Given the description of an element on the screen output the (x, y) to click on. 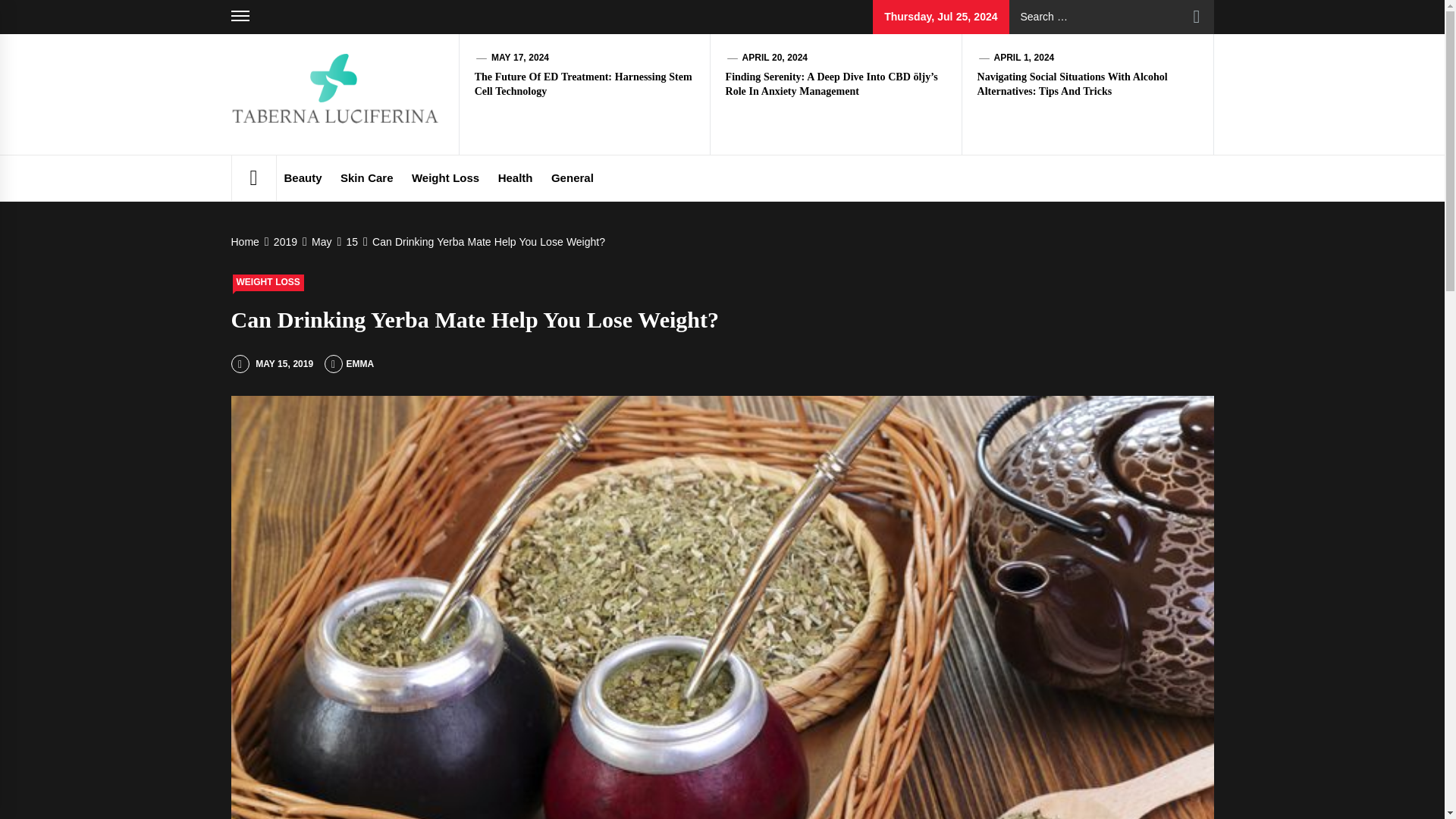
May (319, 241)
15 (349, 241)
The Future Of ED Treatment: Harnessing Stem Cell Technology (583, 84)
WEIGHT LOSS (266, 282)
Search (1196, 17)
MAY 15, 2019 (271, 363)
Weight Loss (445, 177)
Health (515, 177)
Search (1196, 17)
Skin Care (367, 177)
2019 (283, 241)
Home (246, 241)
General (572, 177)
Beauty (302, 177)
